Given the description of an element on the screen output the (x, y) to click on. 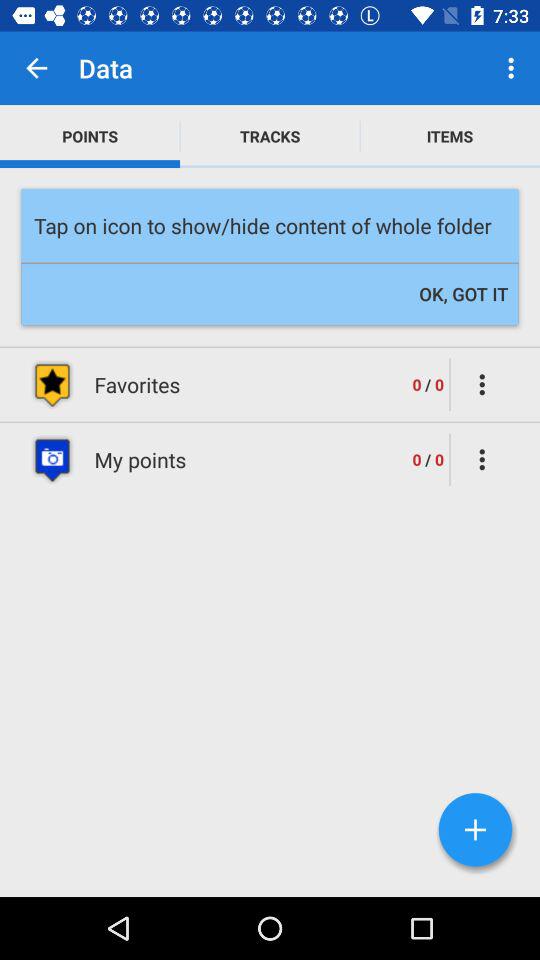
choose the app to the left of the items item (270, 136)
